Given the description of an element on the screen output the (x, y) to click on. 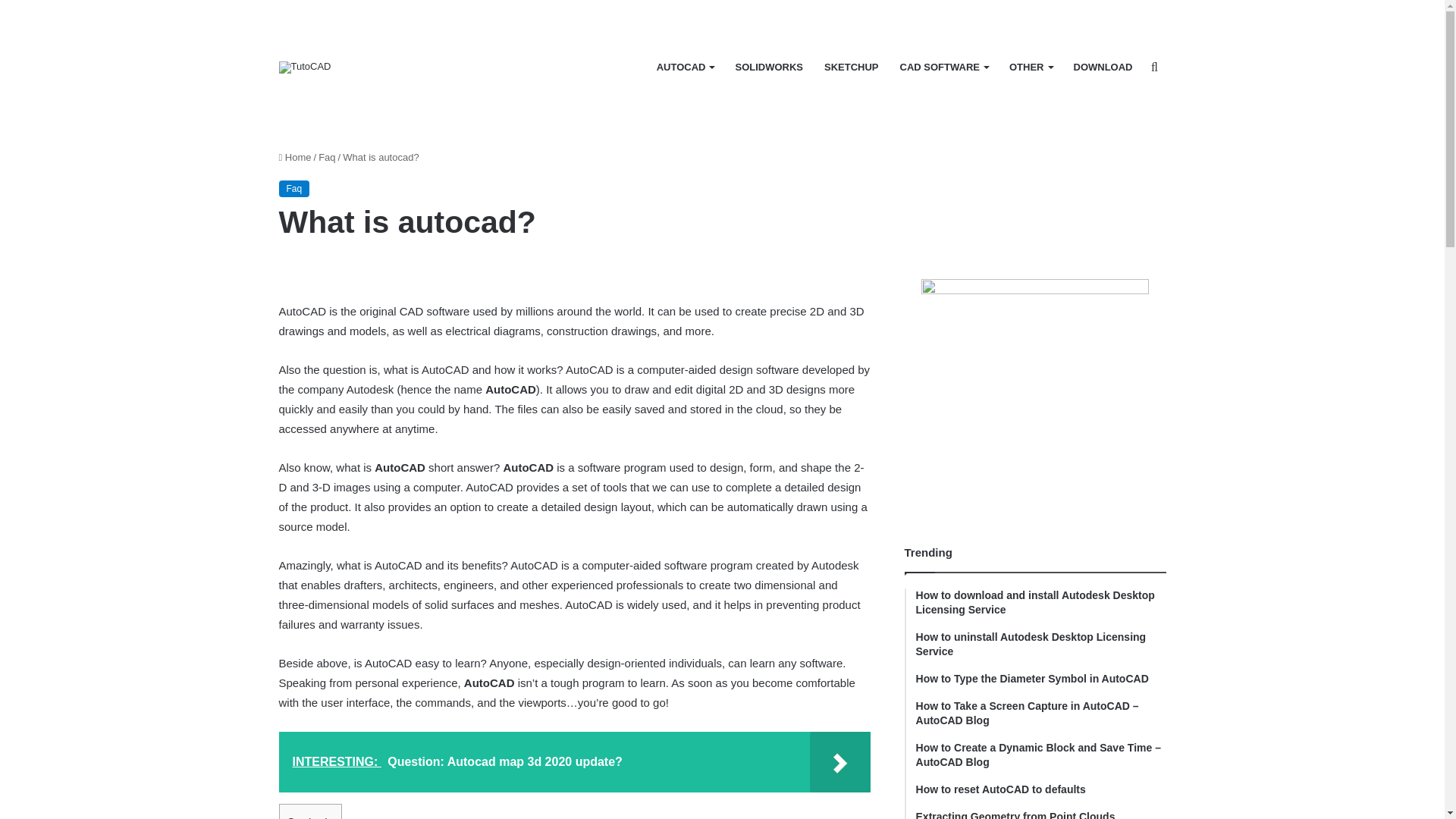
Extracting Geometry from Point Clouds (1040, 814)
Faq (326, 156)
INTERESTING:   Question: Autocad map 3d 2020 update? (574, 762)
Faq (294, 188)
Home (295, 156)
How to reset AutoCAD to defaults (1040, 789)
How to uninstall Autodesk Desktop Licensing Service (1040, 644)
How to Type the Diameter Symbol in AutoCAD (1040, 679)
TutoCAD (305, 66)
